Given the description of an element on the screen output the (x, y) to click on. 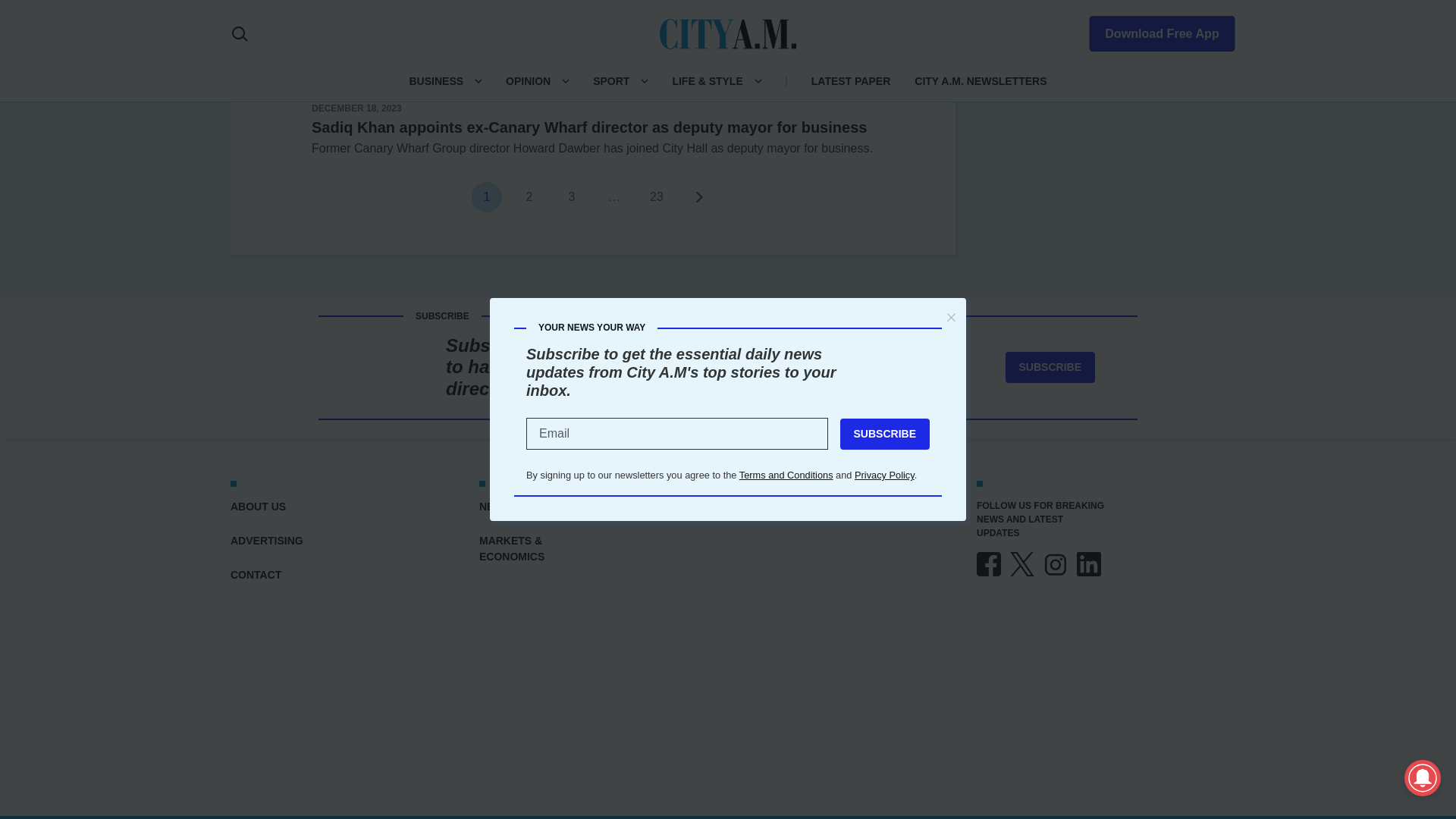
INSTAGRAM (1055, 564)
FACEBOOK (988, 564)
X (1021, 564)
LINKEDIN (1088, 564)
